Given the description of an element on the screen output the (x, y) to click on. 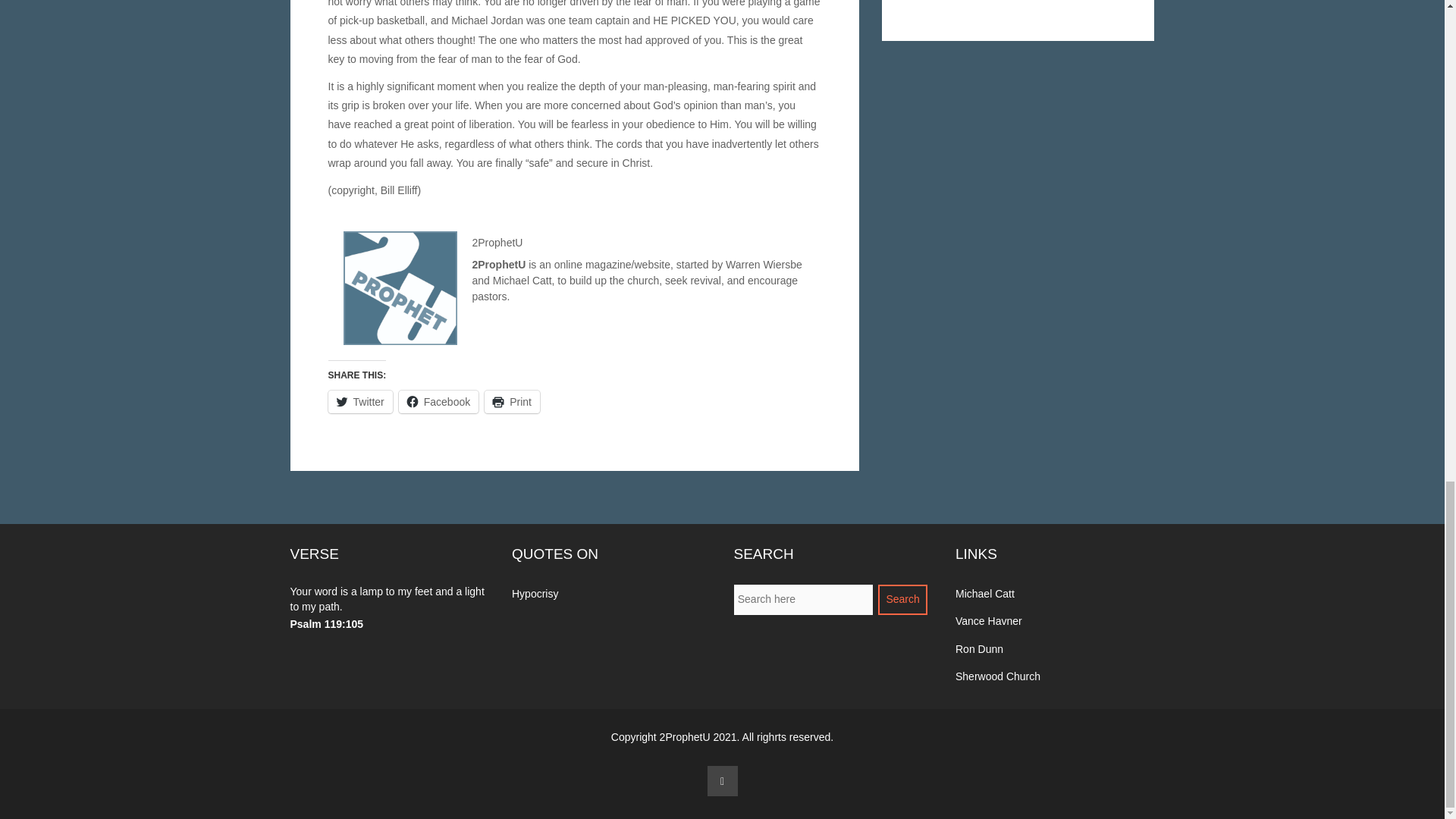
Click to print (512, 401)
Search (902, 599)
Click to share on Twitter (359, 401)
Search (902, 599)
facebook (721, 780)
Click to share on Facebook (438, 401)
